Given the description of an element on the screen output the (x, y) to click on. 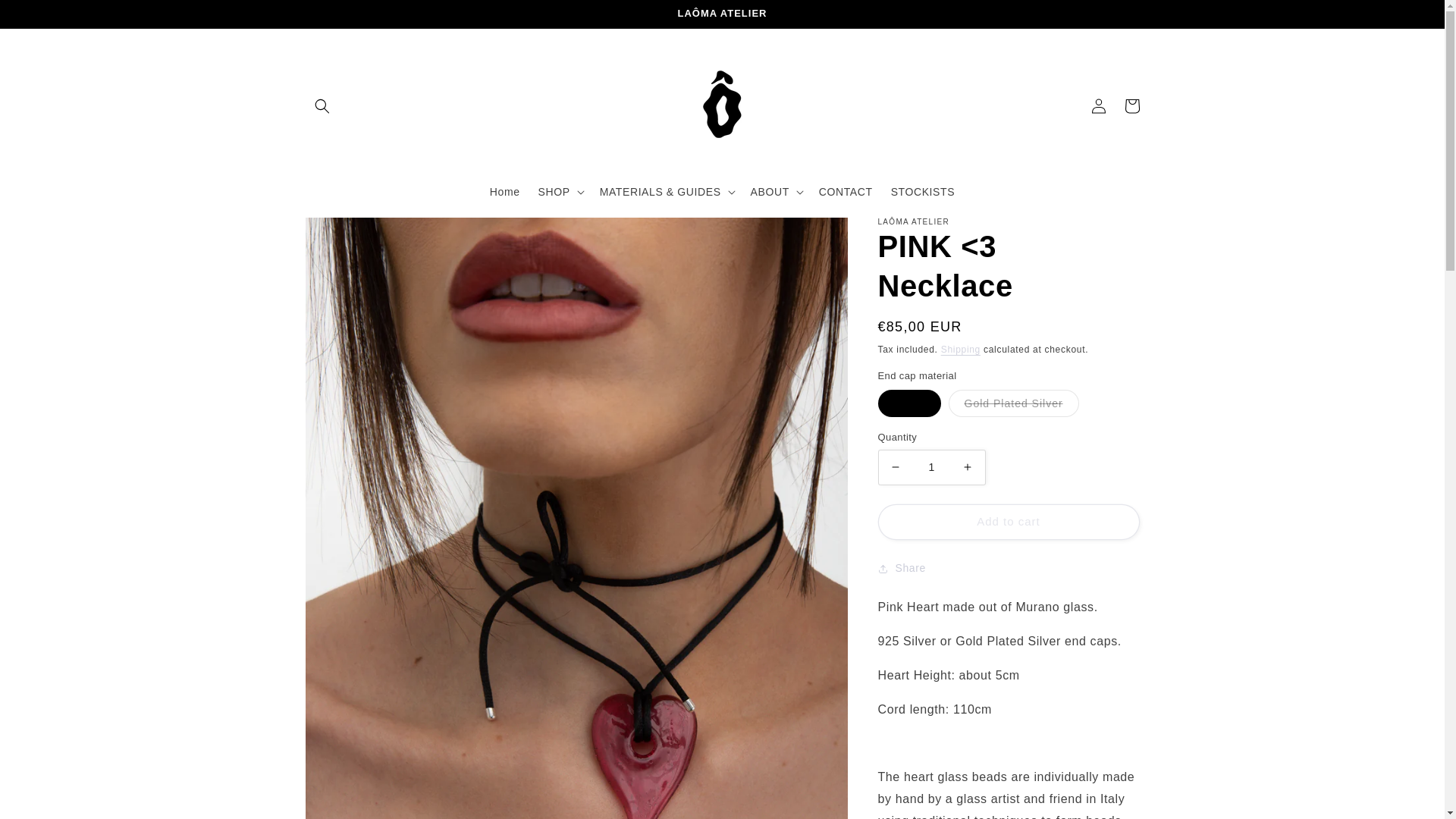
1 (931, 467)
Home (504, 192)
Skip to content (45, 17)
